Given the description of an element on the screen output the (x, y) to click on. 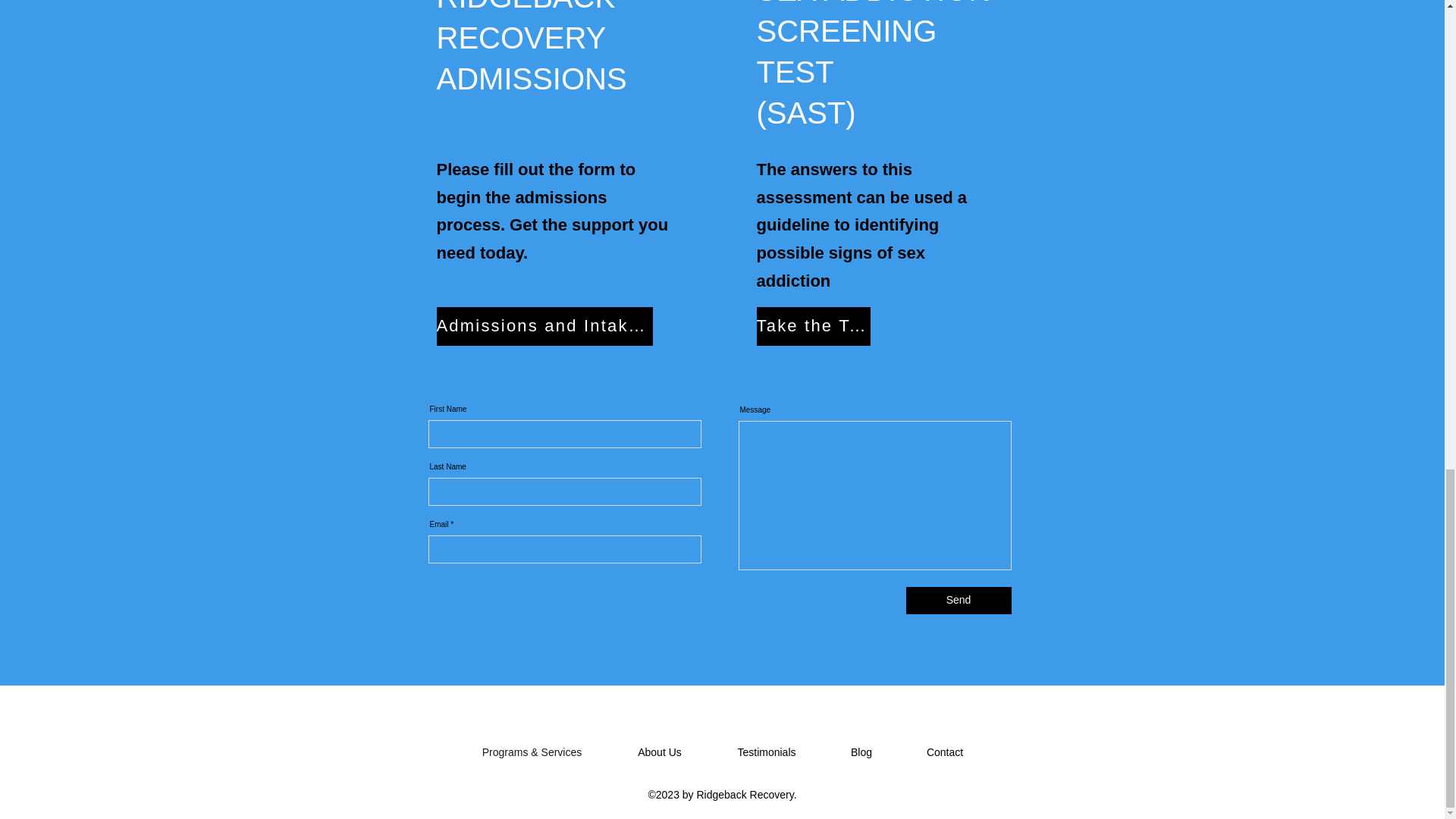
About Us (659, 752)
Testimonials (767, 752)
Contact (945, 752)
Admissions and Intake Form (544, 326)
Blog (861, 752)
Take the Test (813, 326)
Send (957, 600)
